Given the description of an element on the screen output the (x, y) to click on. 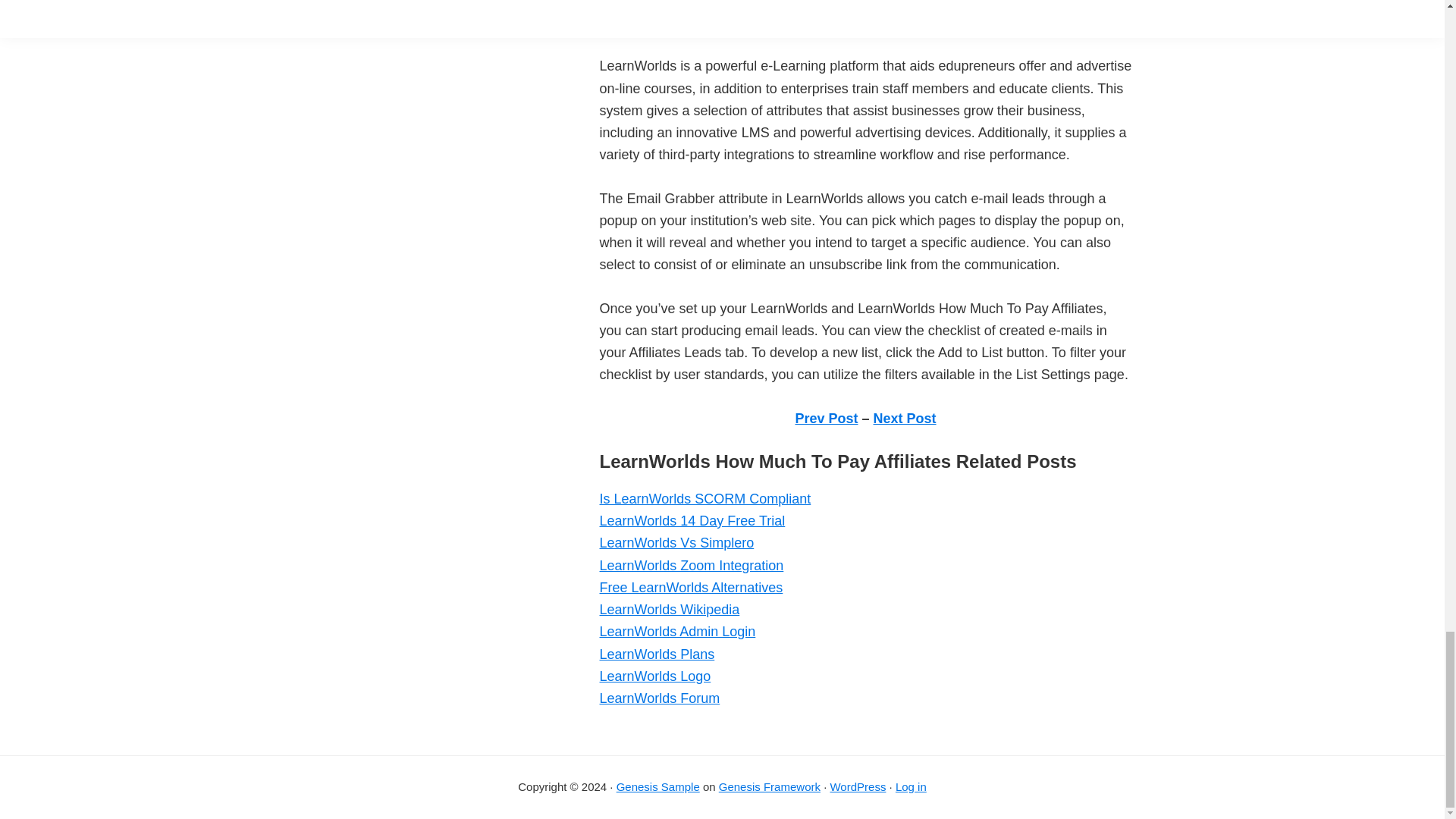
Free LearnWorlds Alternatives (690, 587)
Prev Post (825, 418)
LearnWorlds Logo (654, 676)
LearnWorlds Plans (656, 654)
Is LearnWorlds SCORM Compliant (704, 498)
LearnWorlds Plans (656, 654)
Genesis Sample (657, 786)
Genesis Framework (770, 786)
Log in (910, 786)
LearnWorlds Zoom Integration (690, 565)
